Given the description of an element on the screen output the (x, y) to click on. 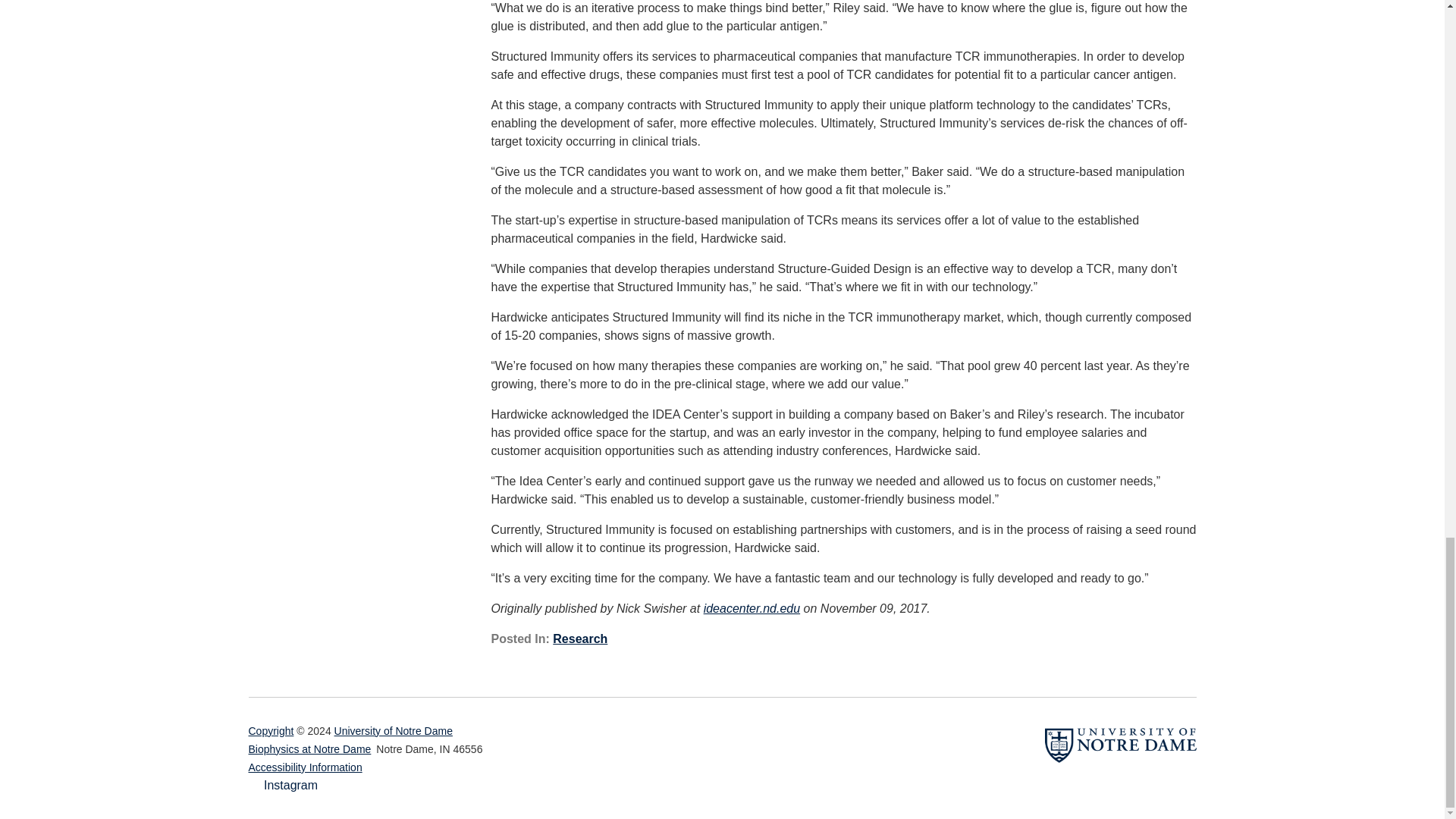
University of Notre Dame (393, 730)
Research (580, 638)
Accessibility Information (305, 767)
Copyright (271, 730)
ideacenter.nd.edu (751, 608)
Instagram (283, 784)
Biophysics at Notre Dame (309, 749)
